Given the description of an element on the screen output the (x, y) to click on. 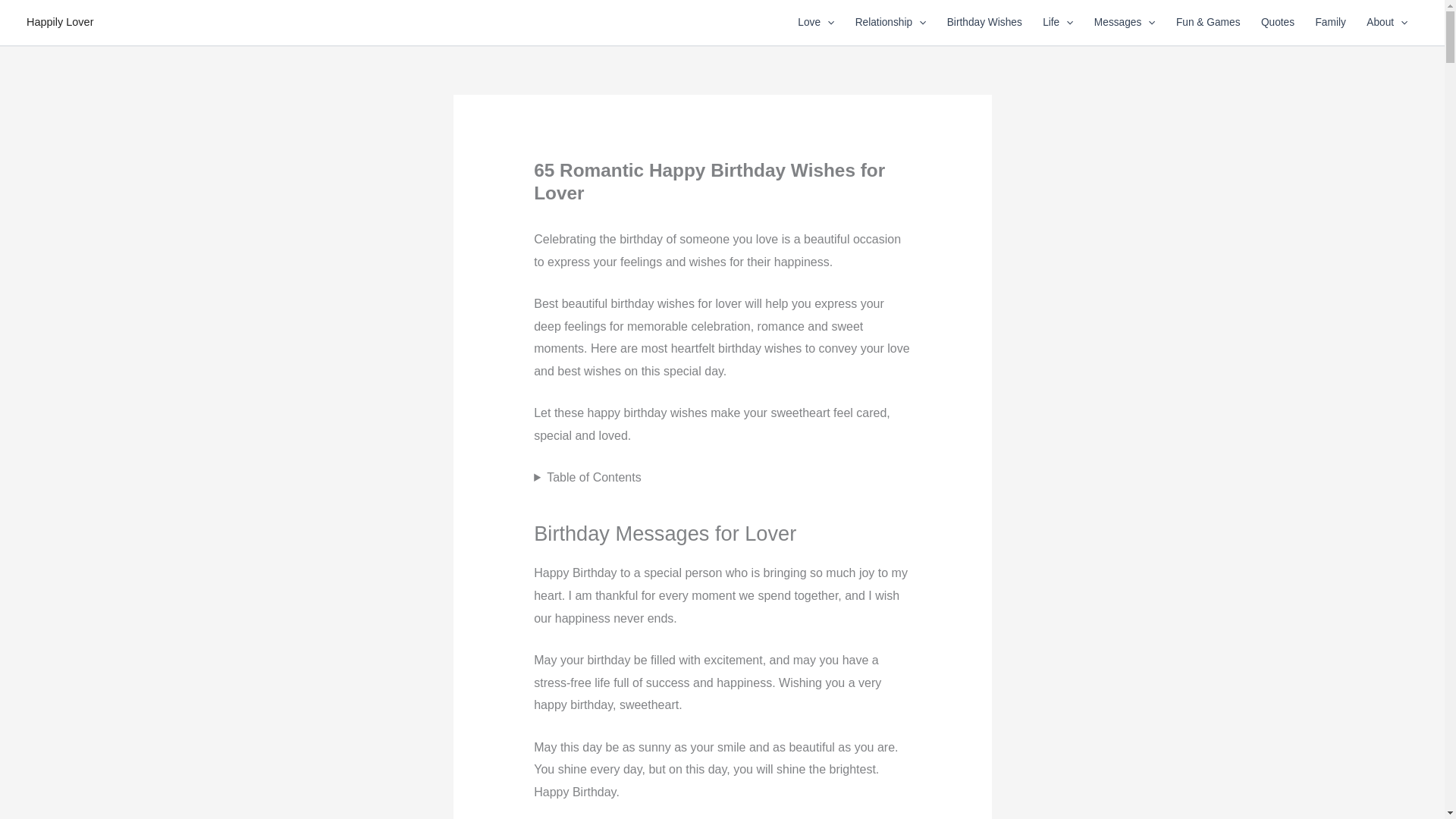
Relationship (890, 22)
Life (1057, 22)
Happily Lover (59, 21)
Family (1330, 22)
About (1387, 22)
Quotes (1277, 22)
Messages (1124, 22)
Love (815, 22)
Birthday Wishes (984, 22)
